Given the description of an element on the screen output the (x, y) to click on. 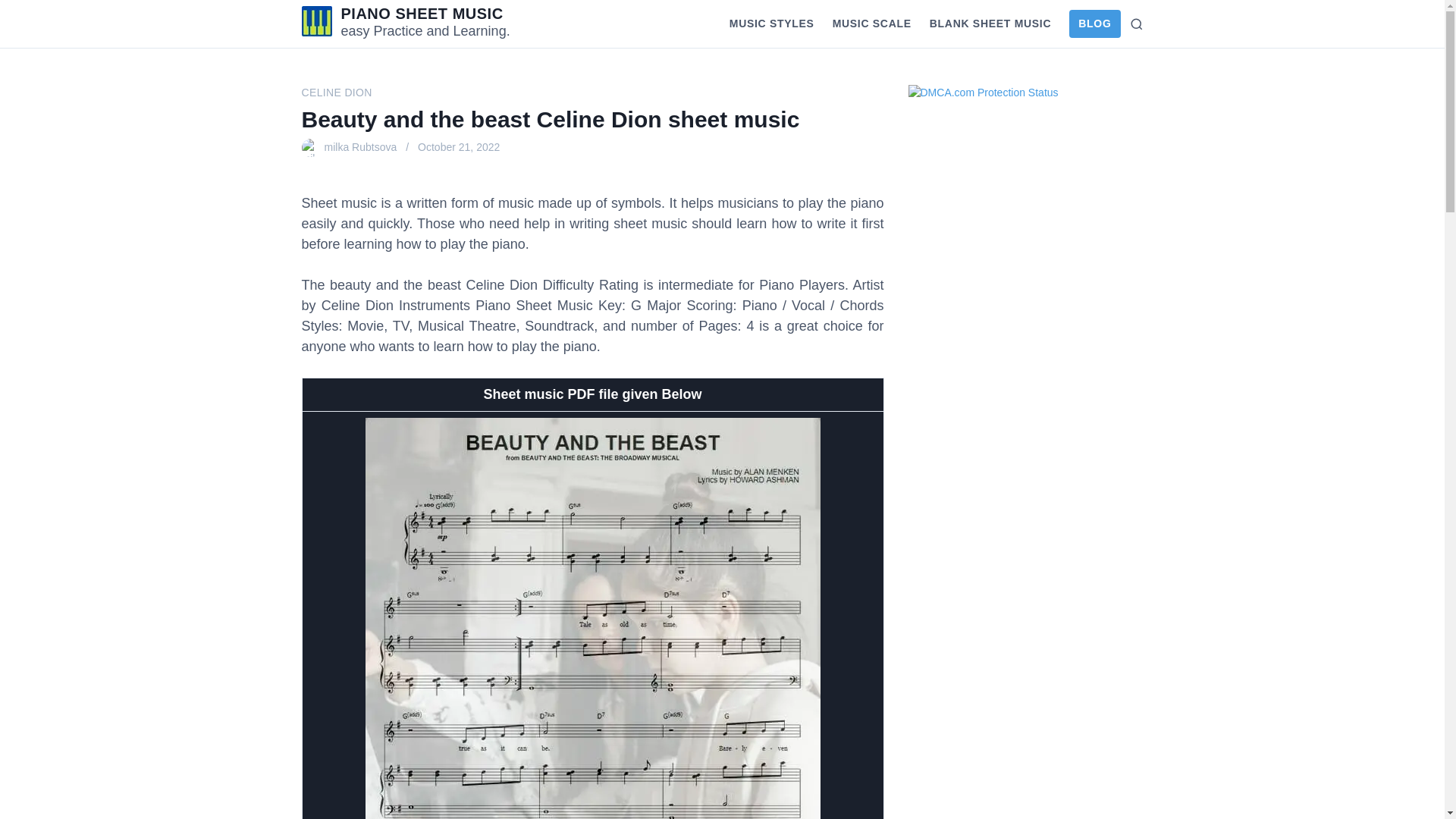
milka Rubtsova (360, 147)
MUSIC SCALE (872, 23)
CELINE DION (336, 92)
PIANO SHEET MUSIC (421, 13)
MUSIC STYLES (772, 23)
Search (1131, 23)
DMCA.com Protection Status (983, 92)
BLANK SHEET MUSIC (989, 23)
BLOG (1093, 23)
